Given the description of an element on the screen output the (x, y) to click on. 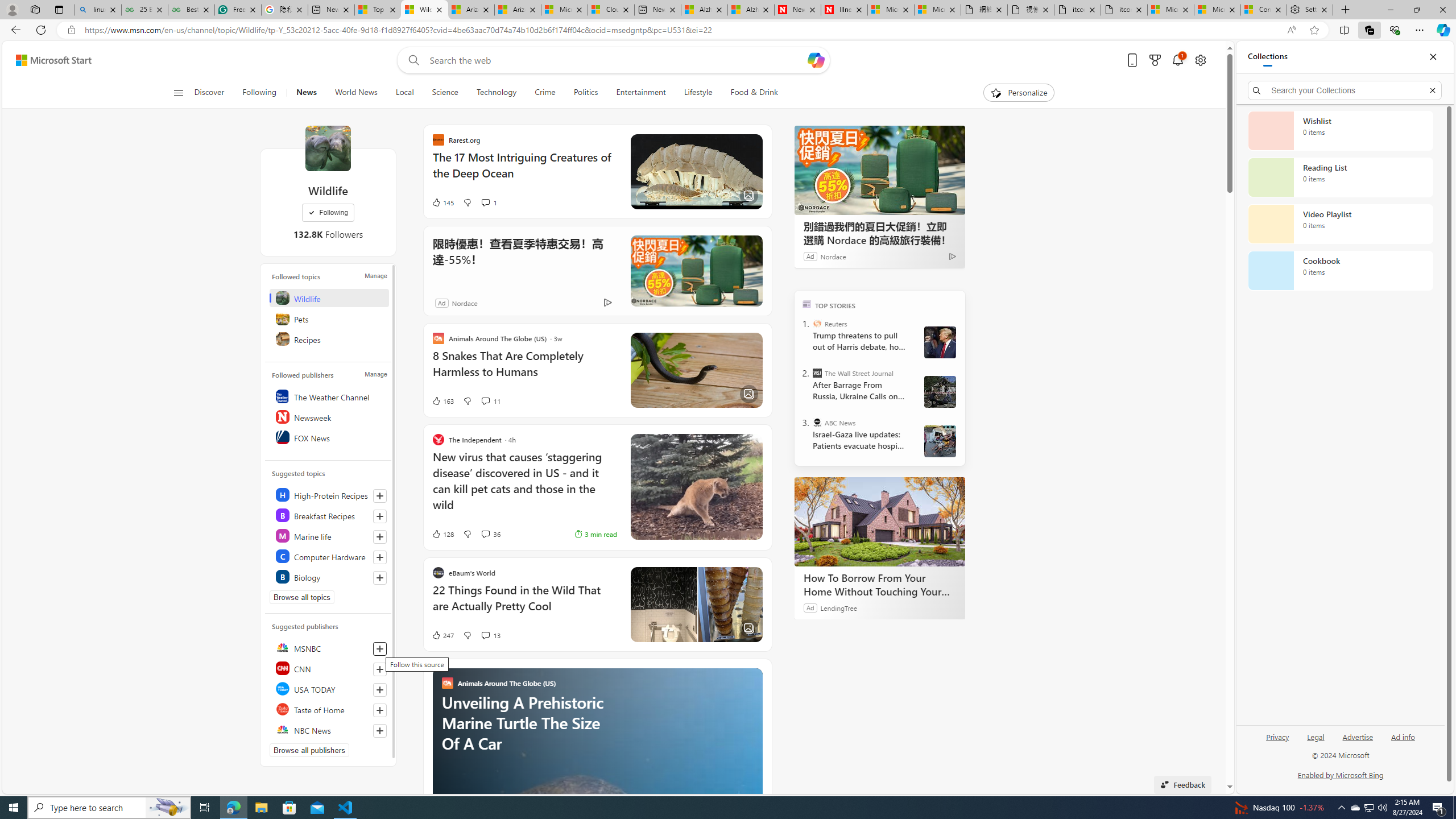
View comments 36 Comment (485, 533)
Wildlife - MSN (424, 9)
247 Like (442, 635)
